Given the description of an element on the screen output the (x, y) to click on. 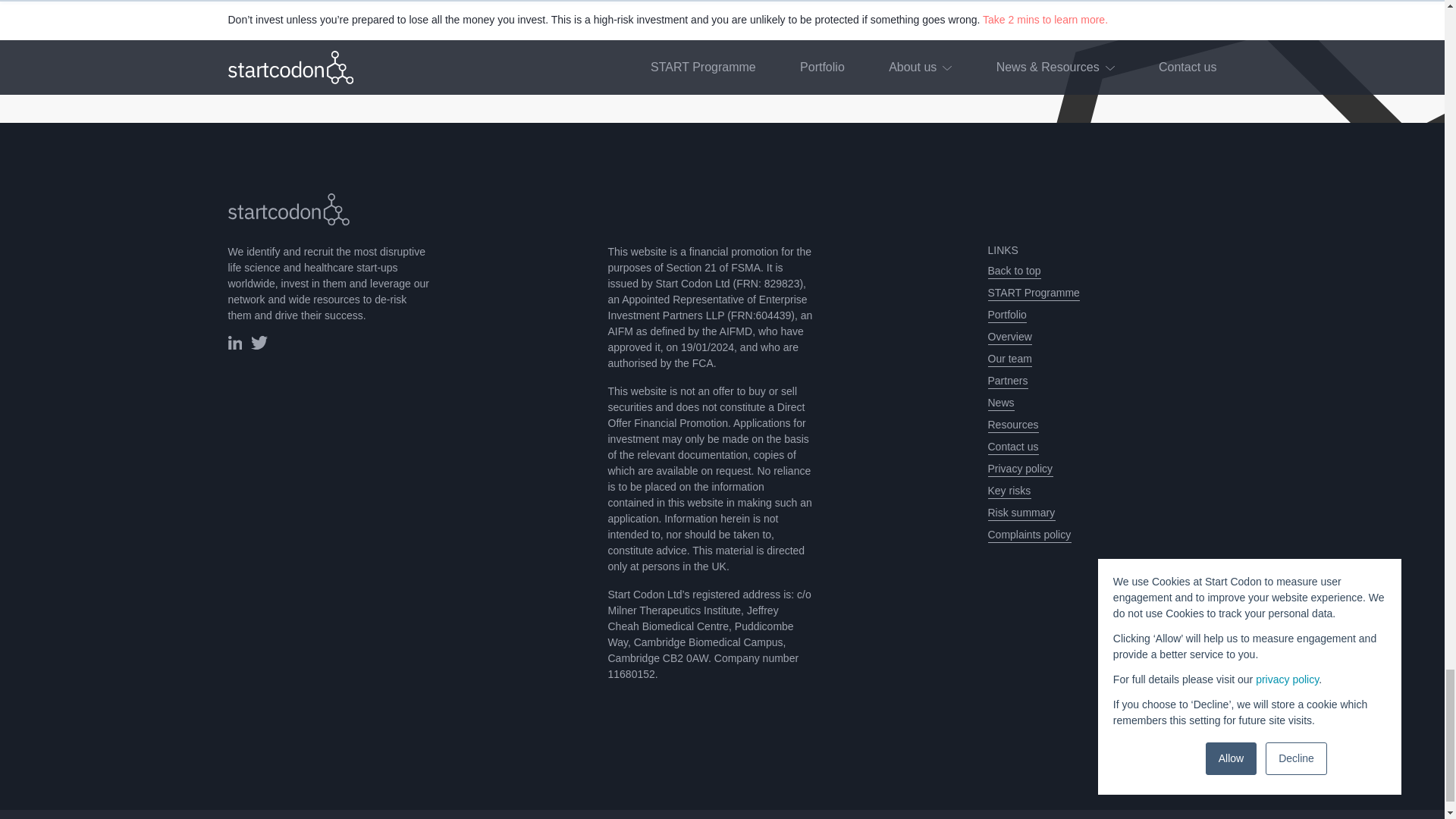
Portfolio (1006, 314)
Overview (1008, 336)
Linkedin (234, 345)
Twitter (258, 345)
Resources (1012, 424)
News (1000, 402)
Our team (1008, 358)
START Programme (1032, 293)
Back to top (1014, 270)
Twitter (258, 342)
Linkedin (234, 342)
Privacy policy (1019, 468)
Contact us (1012, 446)
Partners (1007, 381)
